Given the description of an element on the screen output the (x, y) to click on. 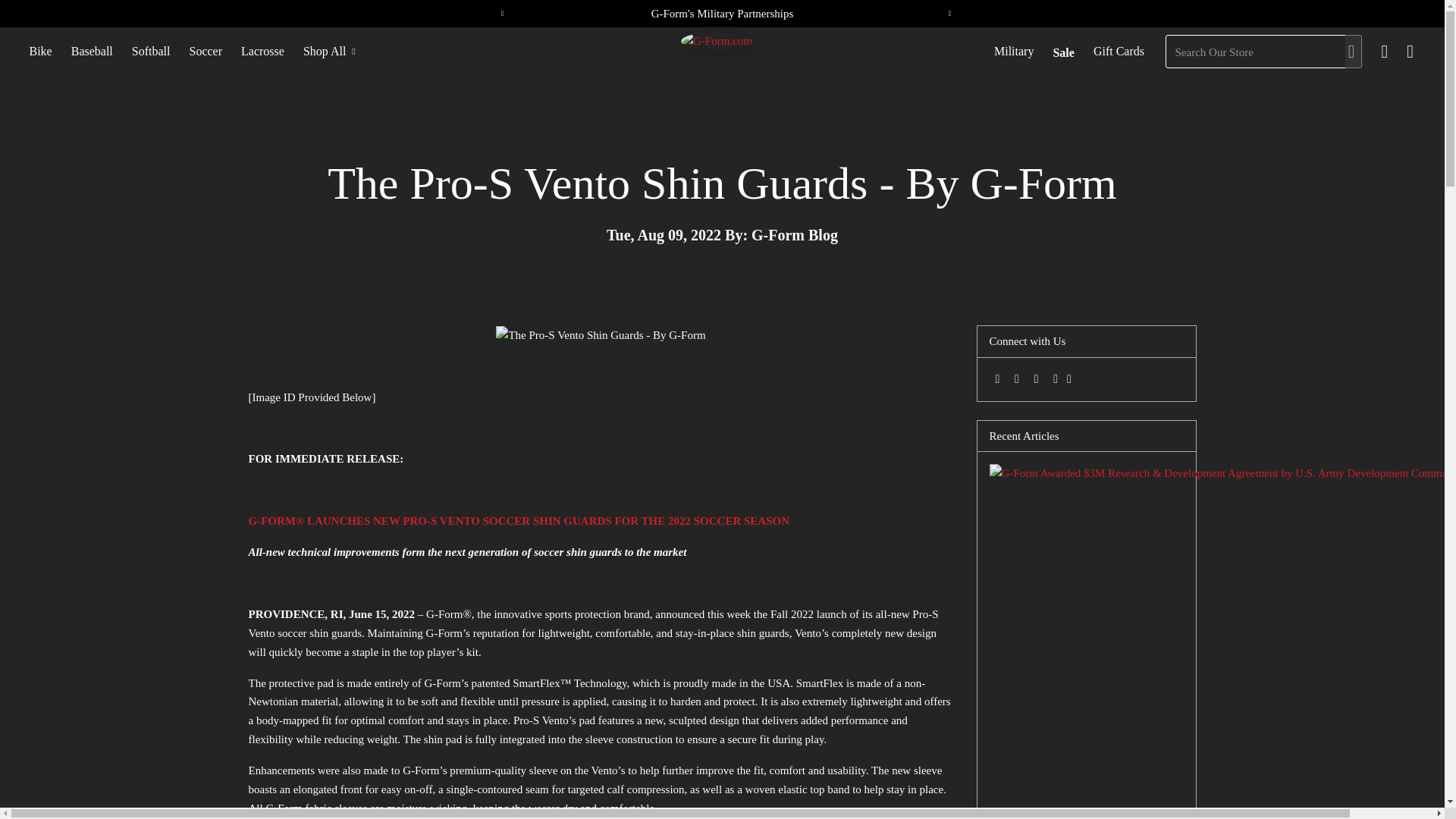
Baseball (91, 51)
Bike (40, 51)
Shop All (329, 51)
Sale (1063, 53)
Soccer (205, 51)
Lacrosse (262, 51)
Gift Cards (1118, 51)
Military (1013, 51)
Soccer (205, 51)
Baseball (91, 51)
